Given the description of an element on the screen output the (x, y) to click on. 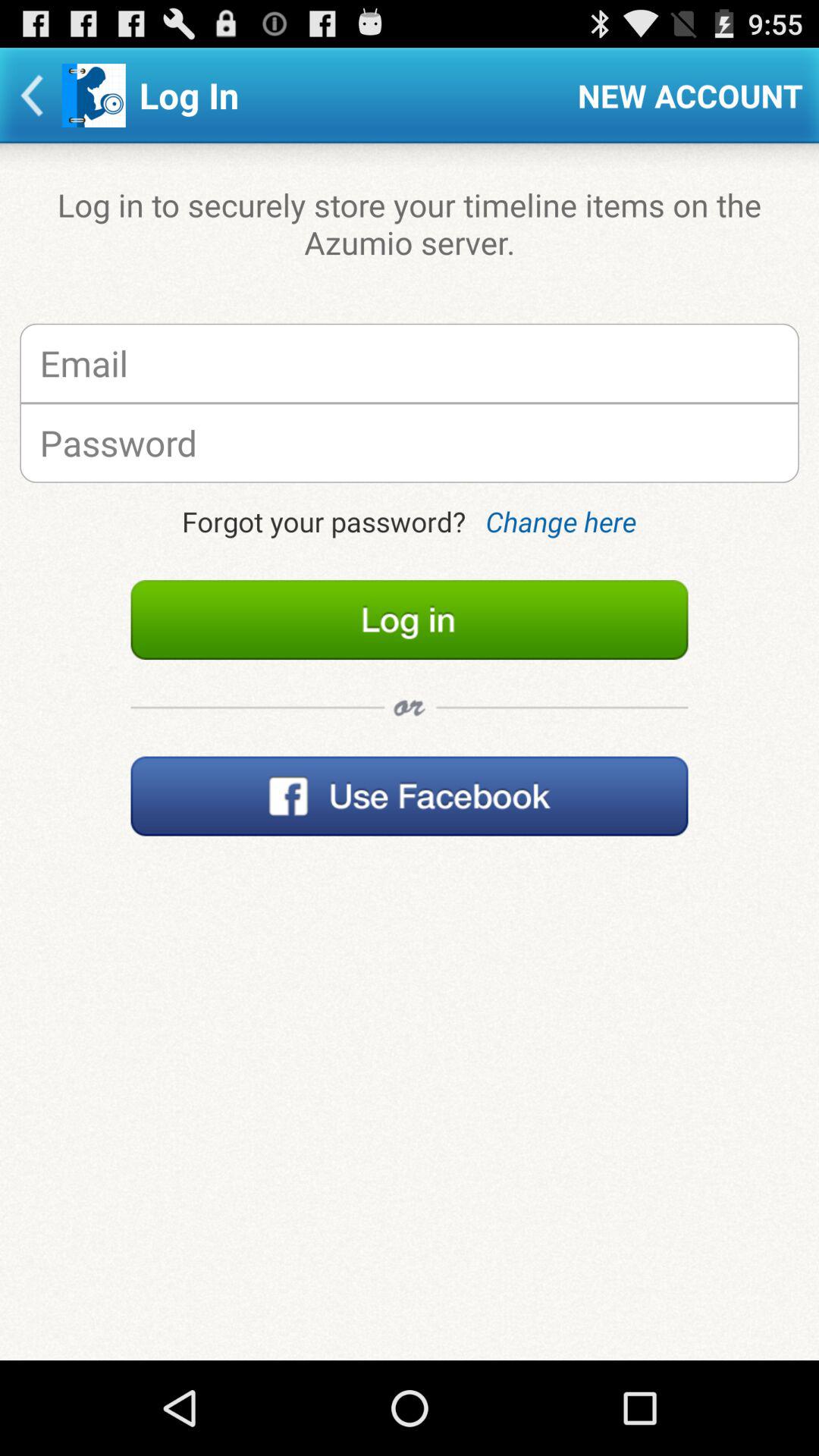
turn on the app to the right of the forgot your password? app (560, 521)
